Given the description of an element on the screen output the (x, y) to click on. 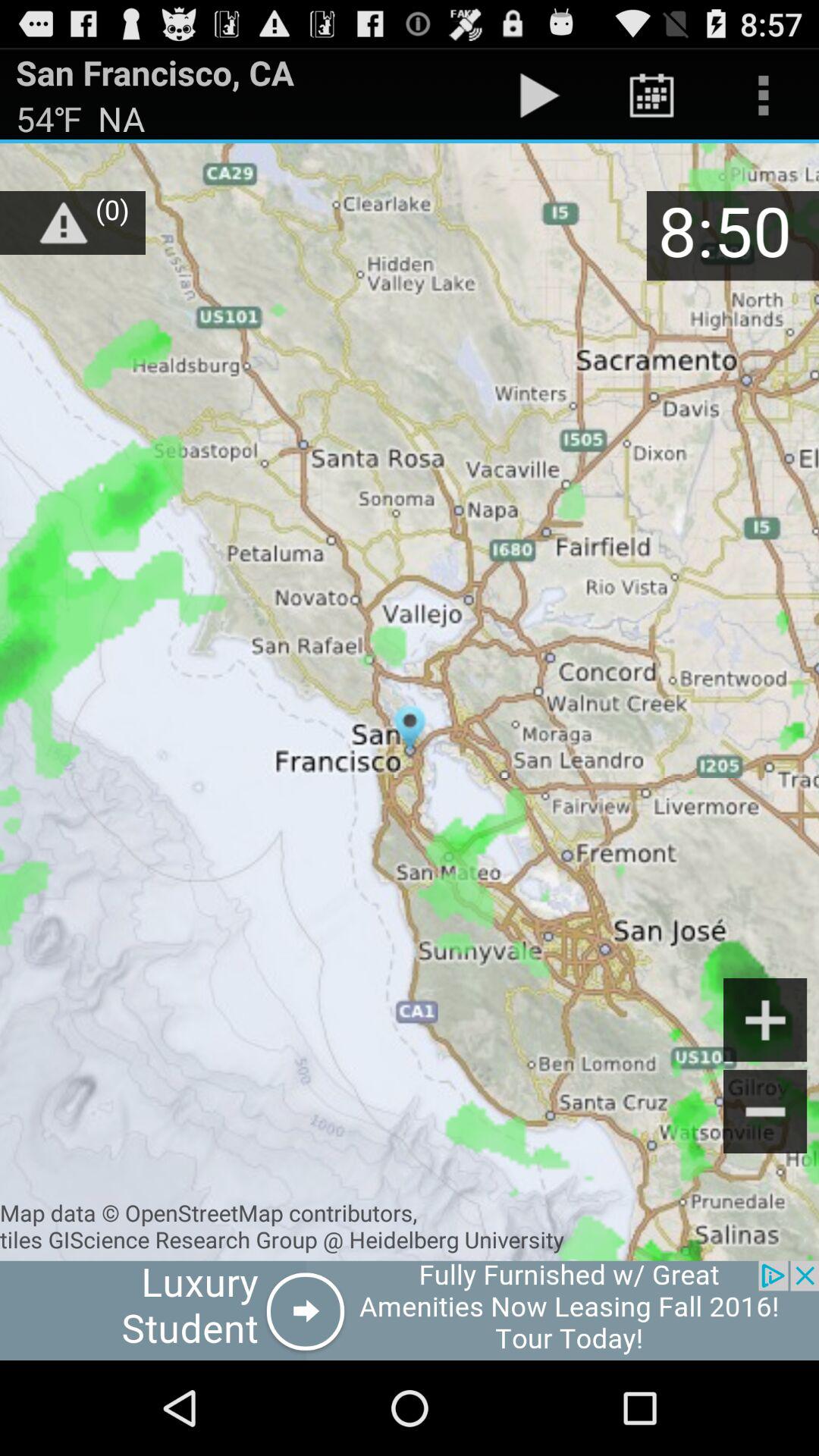
add click option (409, 1310)
